Given the description of an element on the screen output the (x, y) to click on. 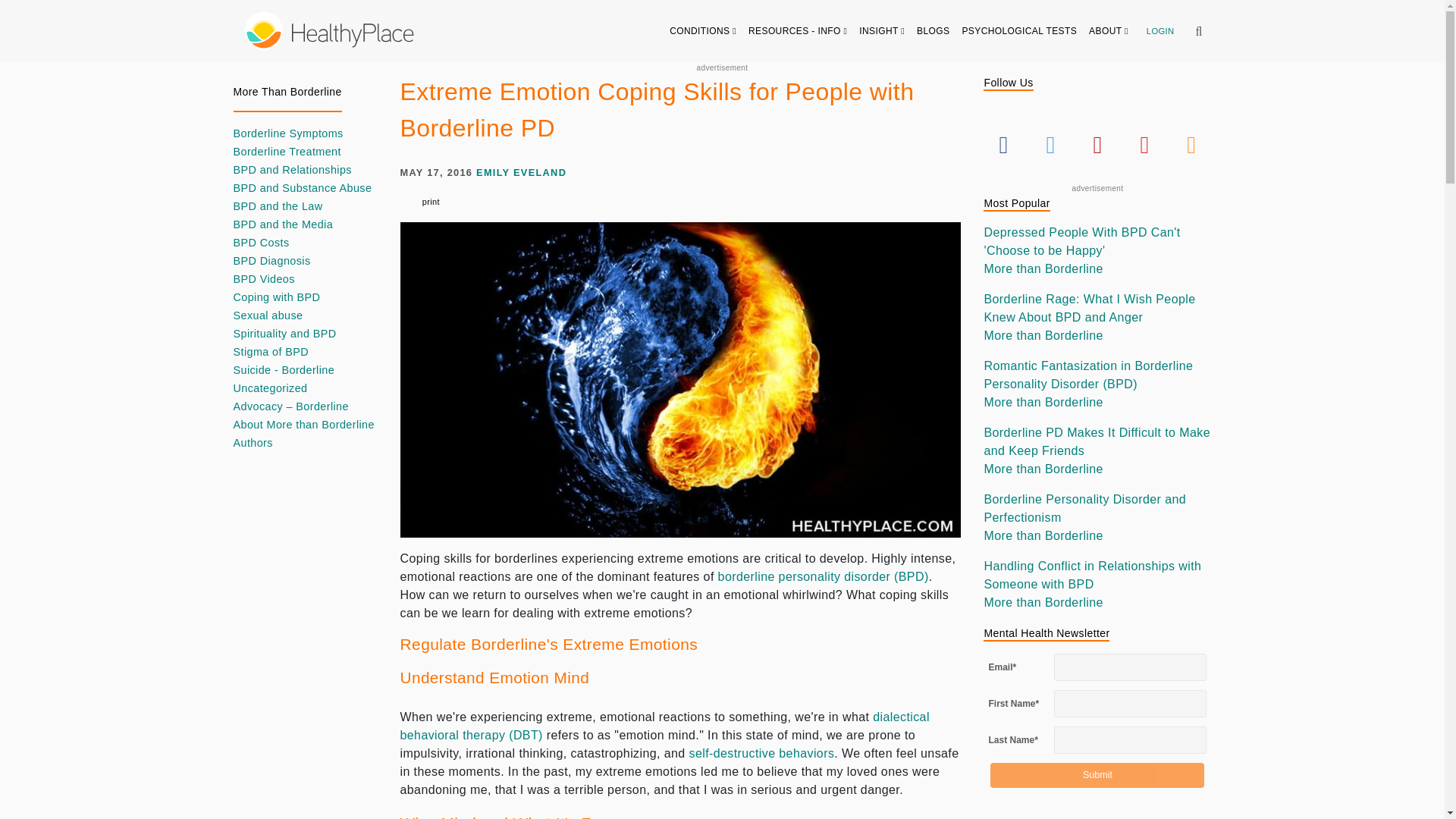
Submit (1097, 774)
CONDITIONS (702, 31)
RESOURCES - INFO (797, 31)
INSIGHT (882, 31)
Borderline Personality Disorder: Symptoms to Treatment (761, 753)
